Given the description of an element on the screen output the (x, y) to click on. 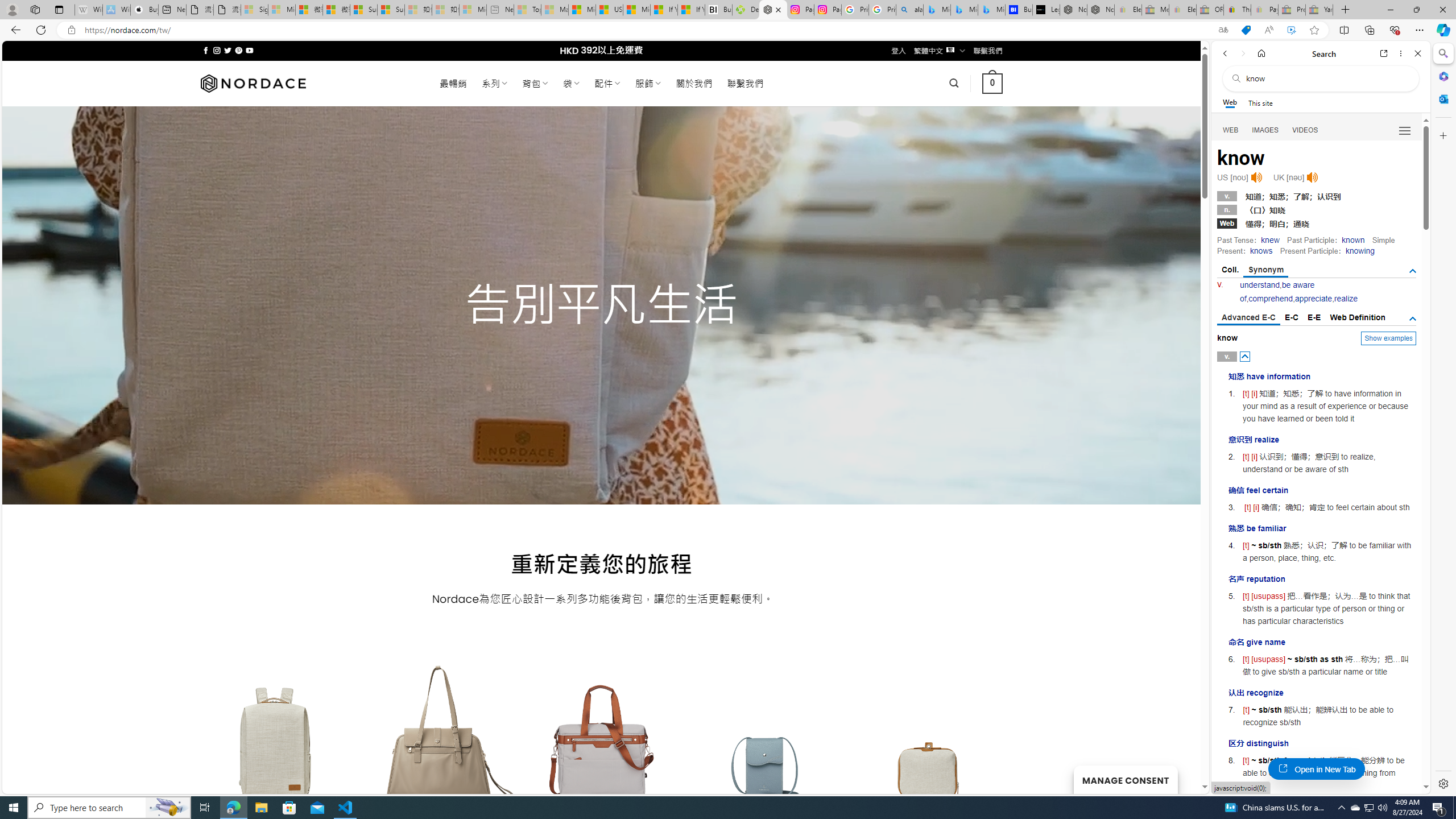
 0  (992, 83)
Follow on Facebook (205, 50)
Threats and offensive language policy | eBay (1236, 9)
